Given the description of an element on the screen output the (x, y) to click on. 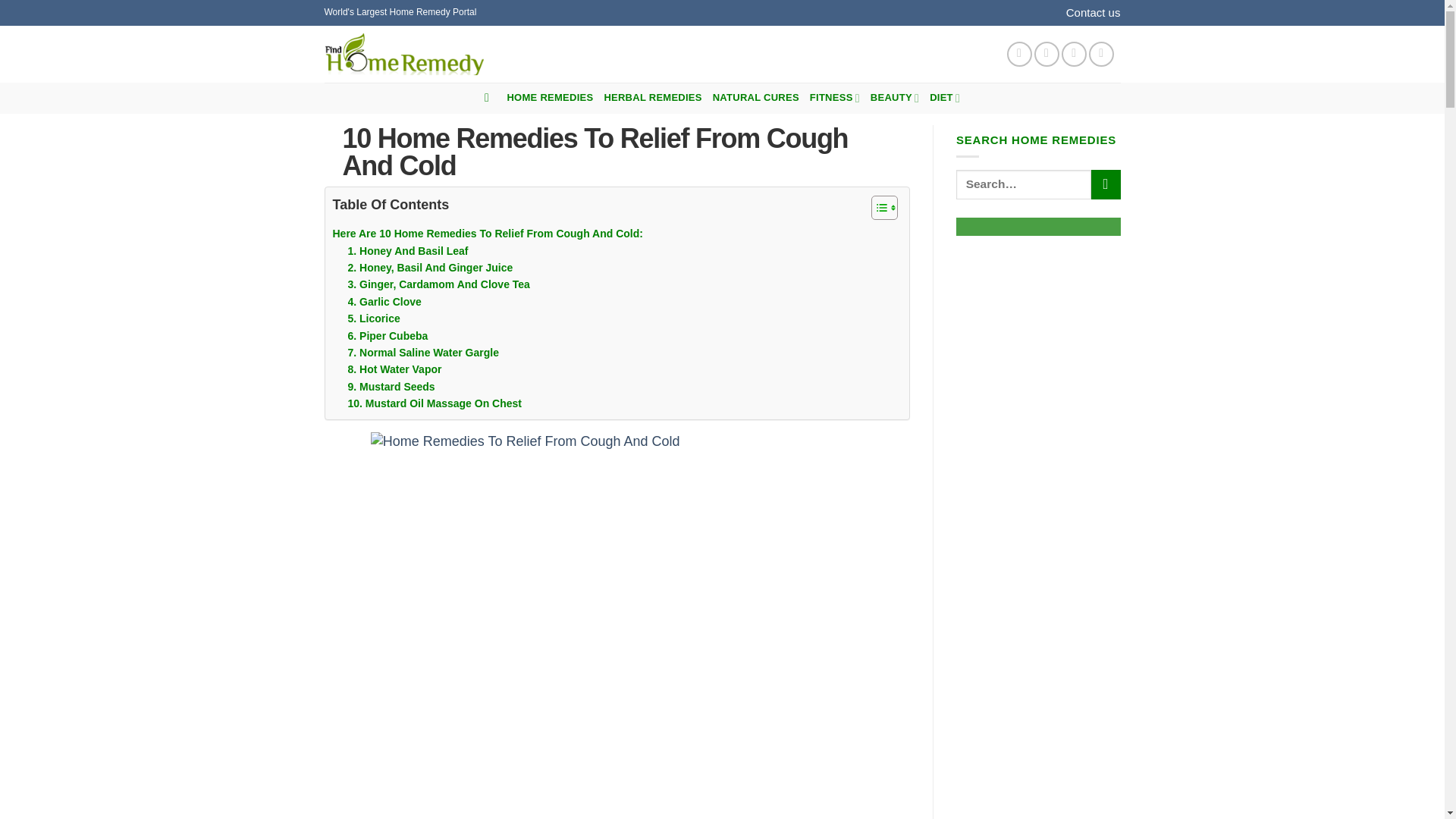
NATURAL CURES (756, 97)
Follow on Facebook (1019, 53)
9. Mustard Seeds (390, 386)
Here Are 10 Home Remedies To Relief From Cough And Cold: (486, 233)
10. Mustard Oil Massage On Chest (434, 402)
4. Garlic Clove (383, 301)
3. Ginger, Cardamom and Clove Tea (438, 284)
DIET (944, 97)
7. Normal Saline Water Gargle (422, 352)
